Given the description of an element on the screen output the (x, y) to click on. 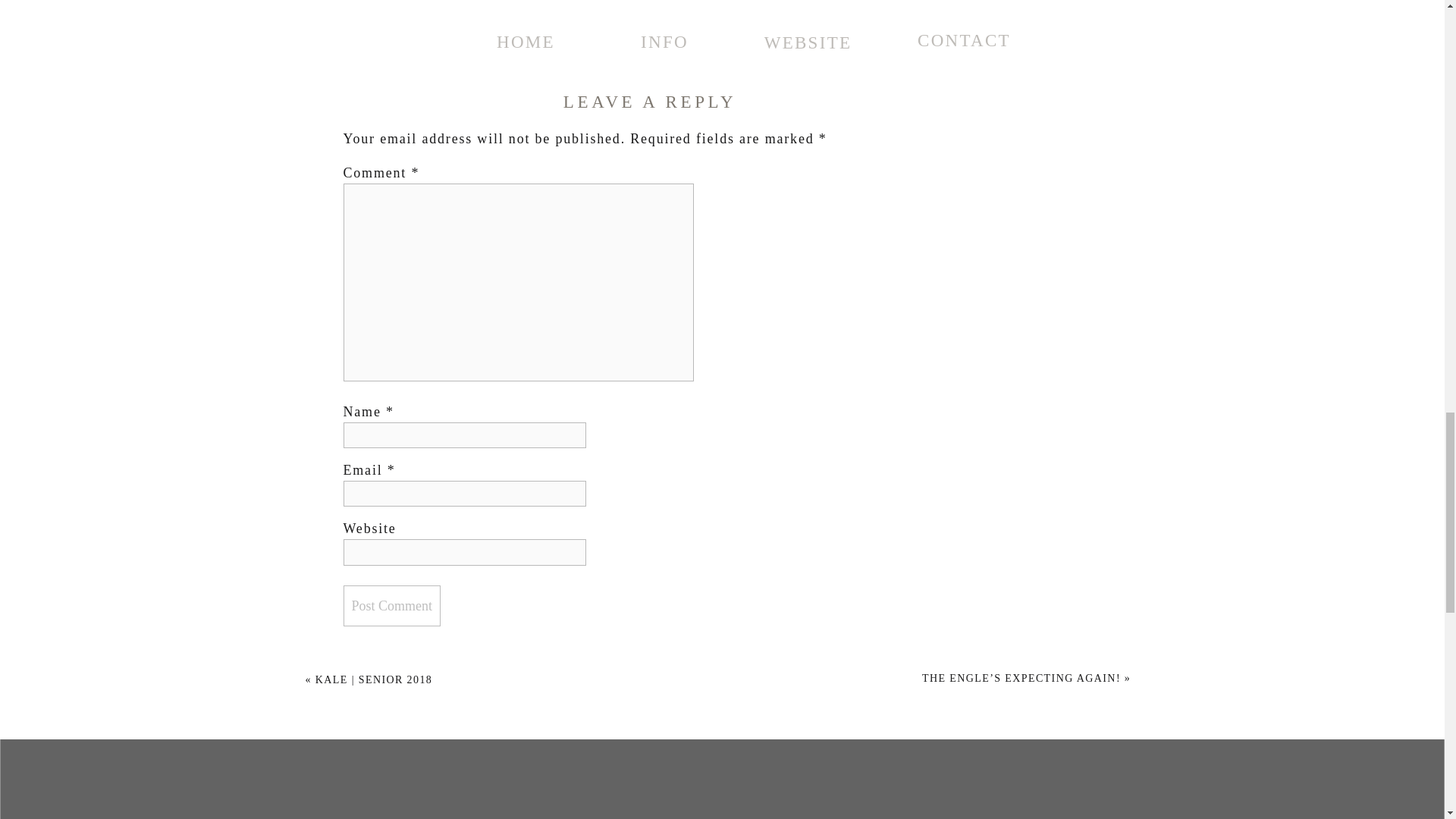
Post Comment (391, 605)
Post Comment (391, 605)
BE THE FIRST TO COMMENT (652, 42)
